Given the description of an element on the screen output the (x, y) to click on. 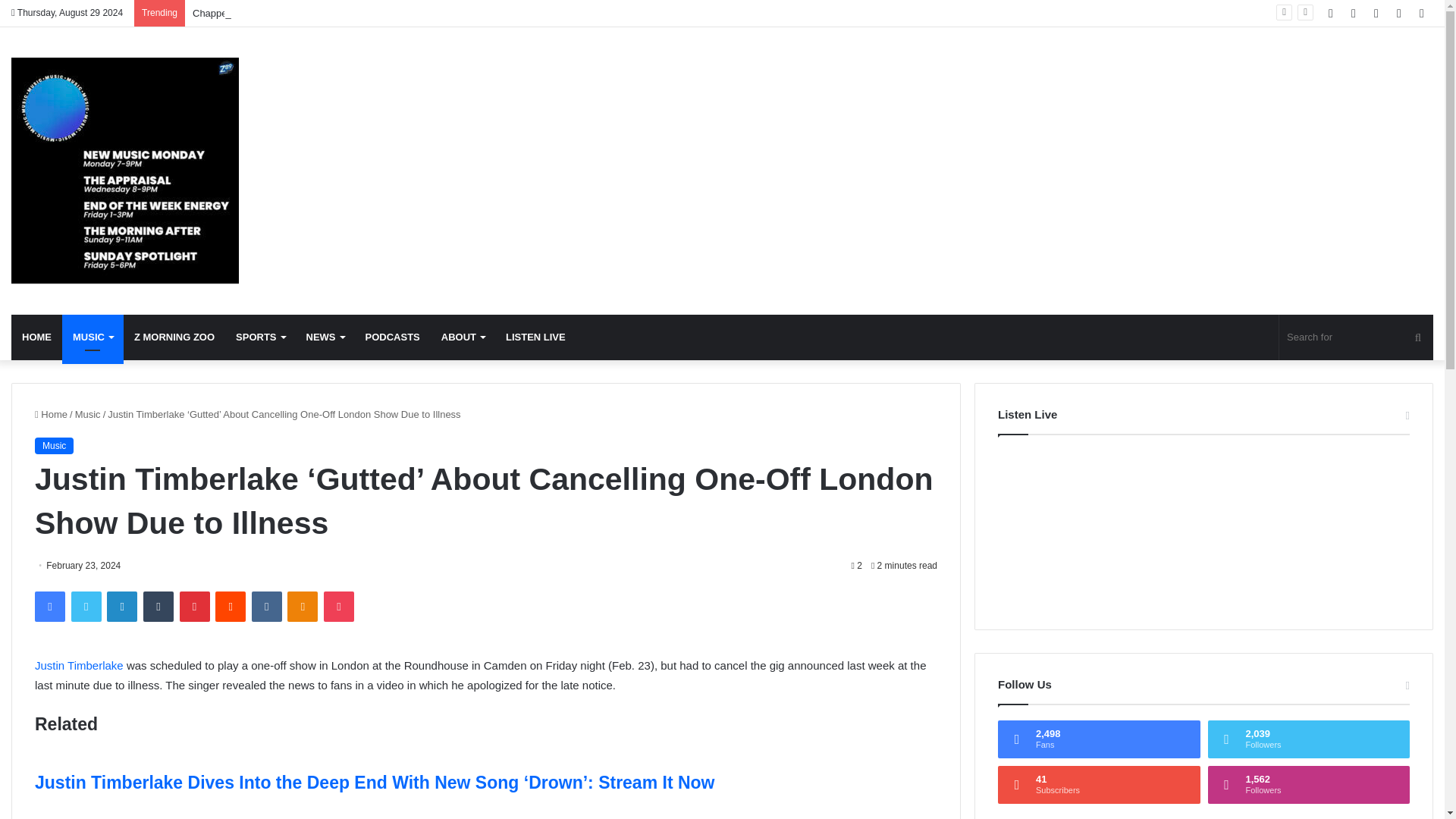
Reddit (230, 606)
Home (50, 414)
Music (124, 170)
Pocket (338, 606)
Facebook (49, 606)
MUSIC (92, 337)
Z MORNING ZOO (174, 337)
Pinterest (194, 606)
SPORTS (260, 337)
NEWS (325, 337)
